Given the description of an element on the screen output the (x, y) to click on. 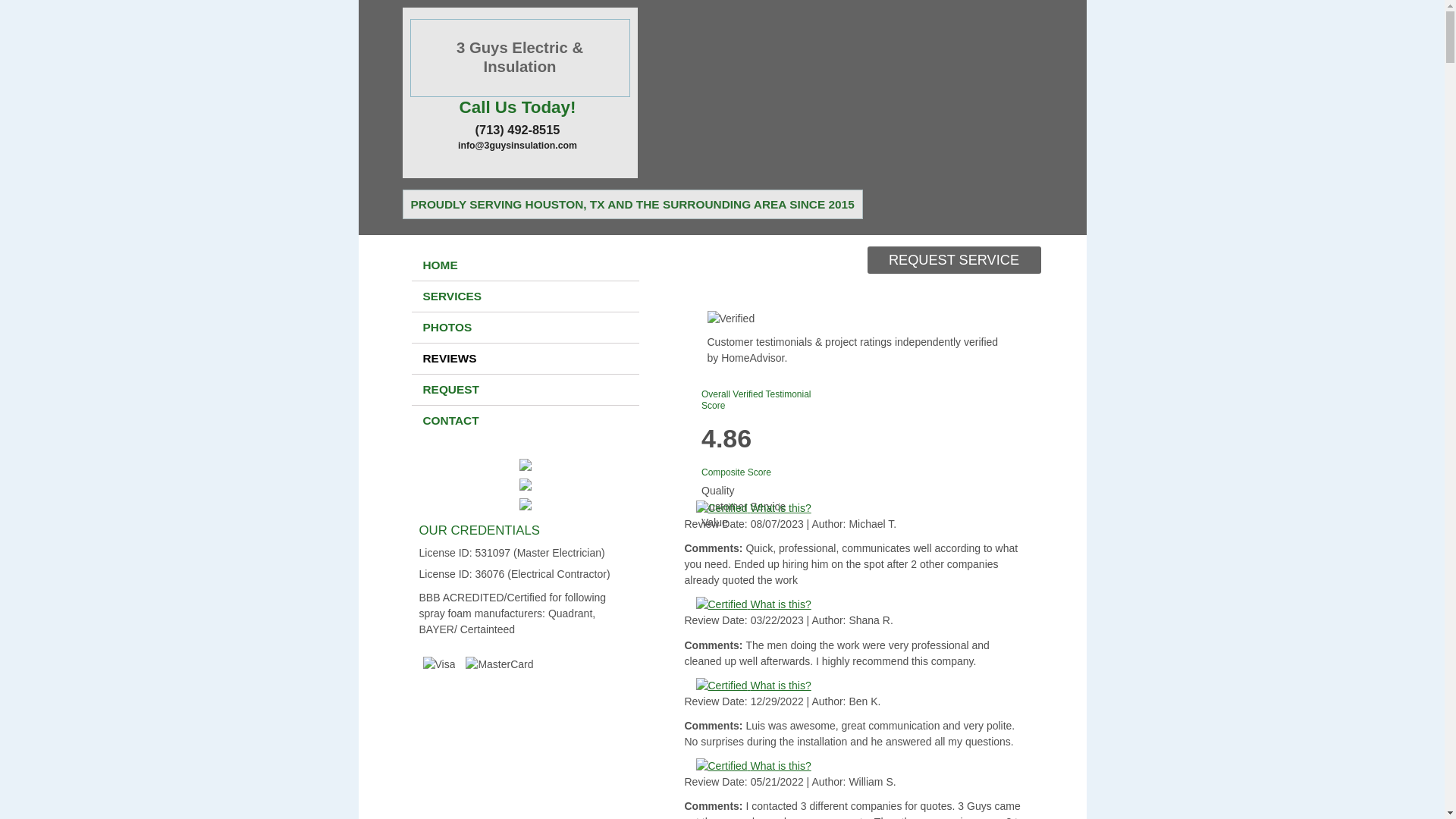
info@3guysinsulation.com Element type: text (517, 145)
REVIEWS Element type: text (524, 358)
3 Guys Electric & Insulation Element type: text (519, 57)
CONTACT Element type: text (524, 420)
SERVICES Element type: text (524, 296)
PHOTOS Element type: text (524, 327)
What is this? Element type: text (861, 685)
What is this? Element type: text (861, 766)
What is this? Element type: text (861, 508)
HOME Element type: text (524, 265)
REQUEST Element type: text (524, 389)
What is this? Element type: text (861, 604)
REQUEST SERVICE Element type: text (953, 259)
